Given the description of an element on the screen output the (x, y) to click on. 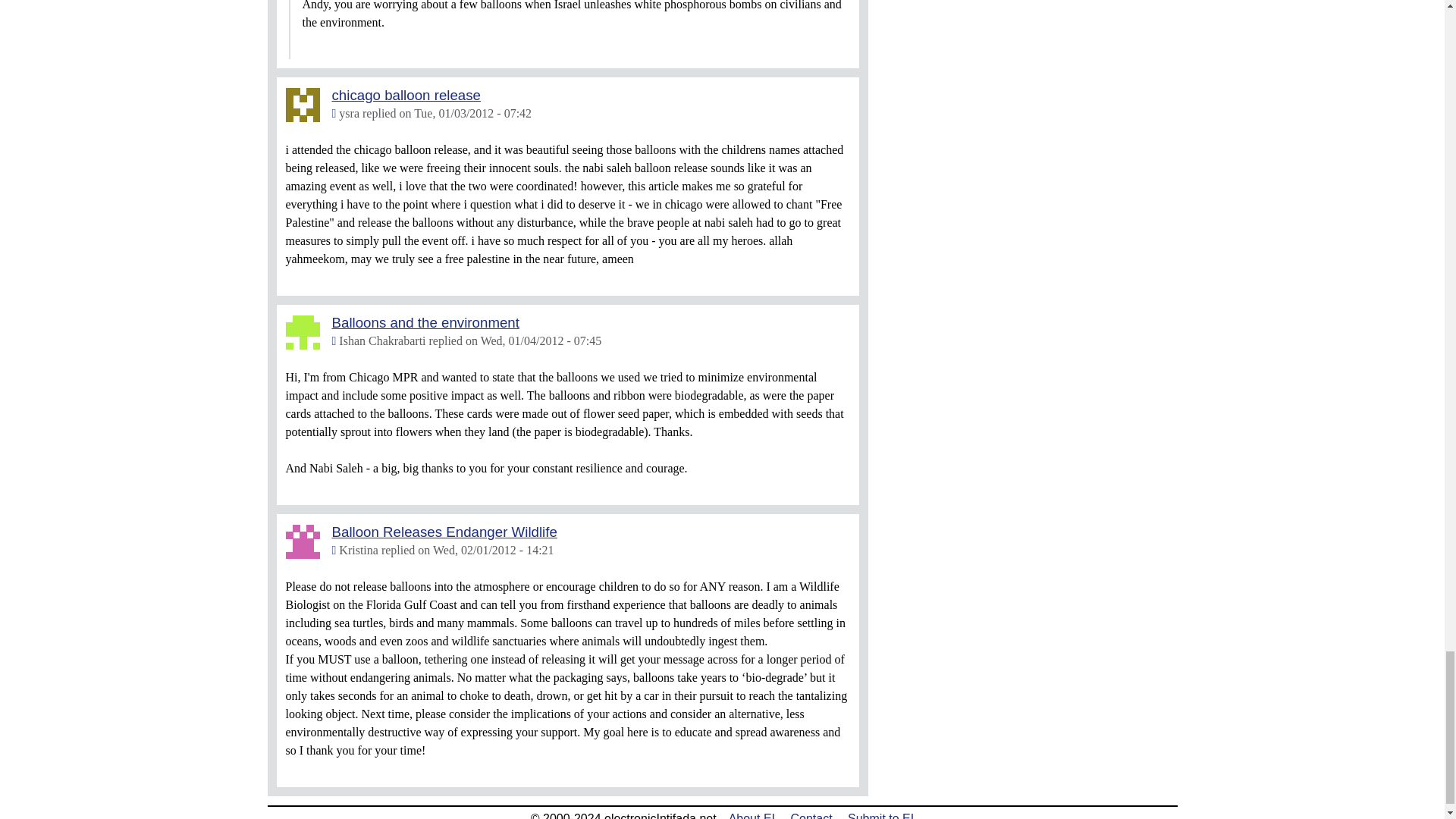
chicago balloon release (406, 94)
Balloons and the environment (425, 322)
Balloon Releases Endanger Wildlife (444, 531)
